Given the description of an element on the screen output the (x, y) to click on. 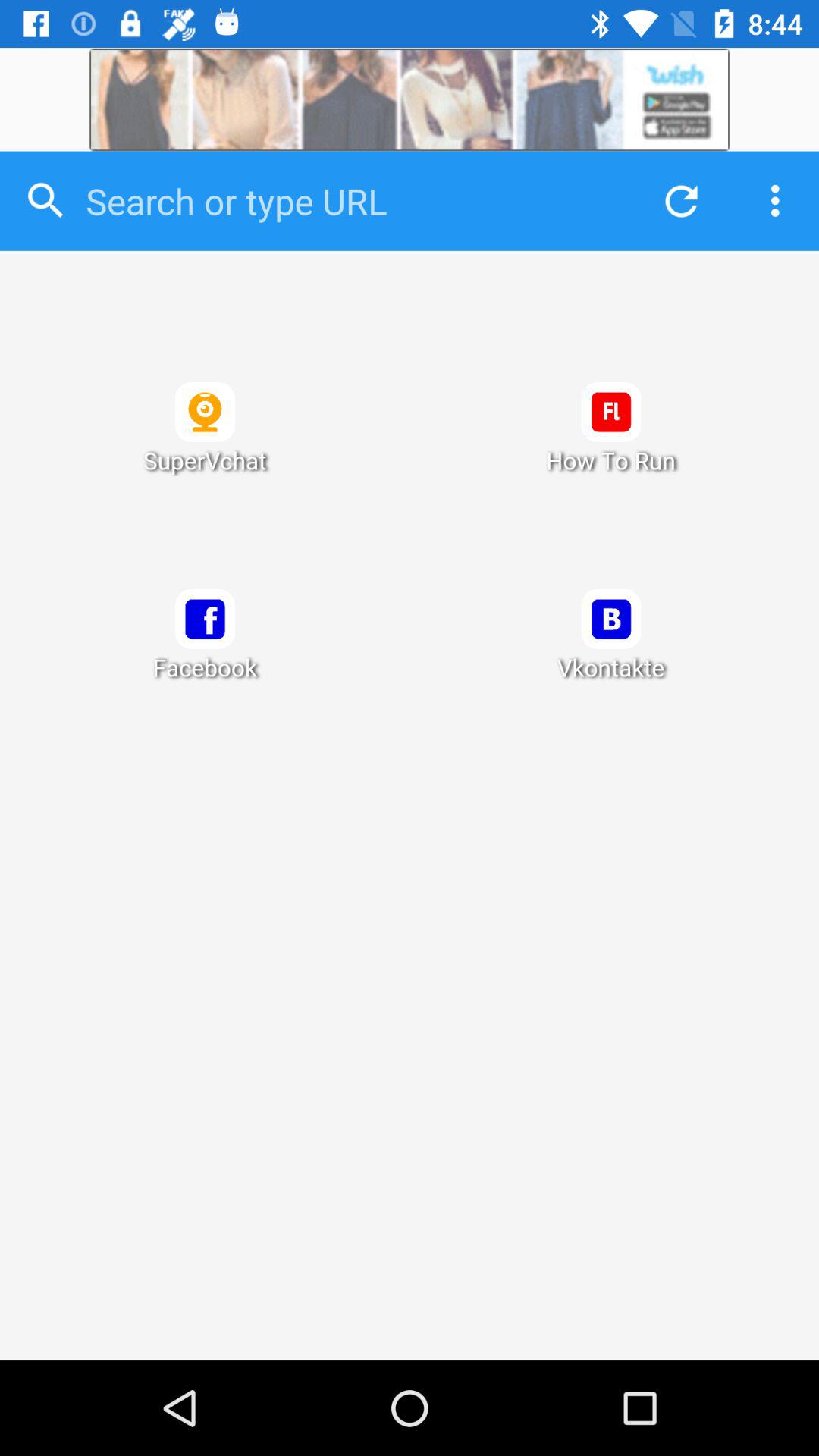
reload (677, 200)
